Given the description of an element on the screen output the (x, y) to click on. 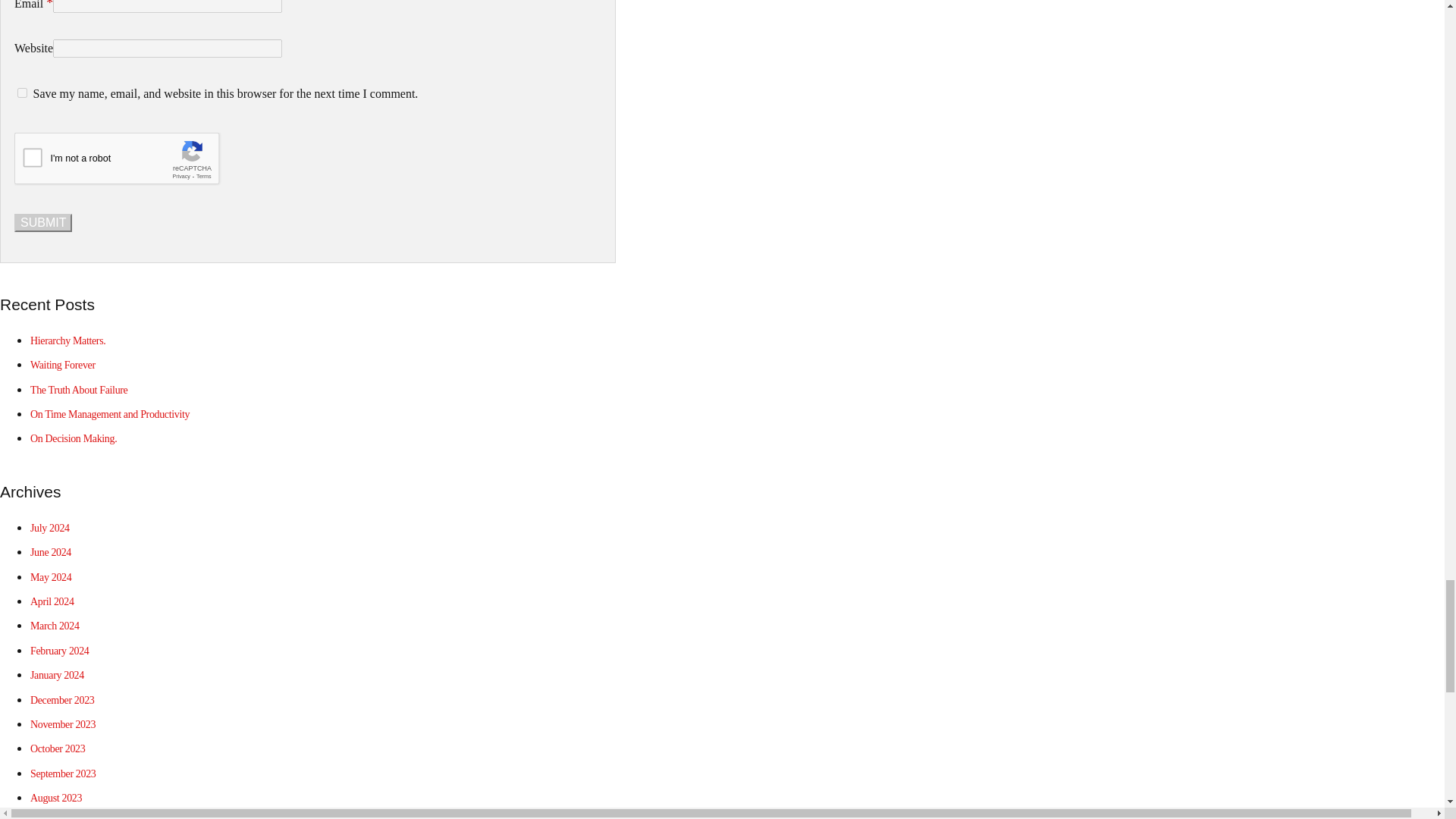
May 2024 (50, 577)
October 2023 (57, 748)
Hierarchy Matters. (67, 340)
December 2023 (62, 699)
June 2024 (50, 552)
Submit (42, 222)
July 2023 (49, 818)
reCAPTCHA (129, 161)
November 2023 (63, 724)
On Time Management and Productivity (109, 414)
On Decision Making. (73, 438)
Waiting Forever (63, 365)
August 2023 (55, 797)
March 2024 (55, 625)
Submit (42, 222)
